Given the description of an element on the screen output the (x, y) to click on. 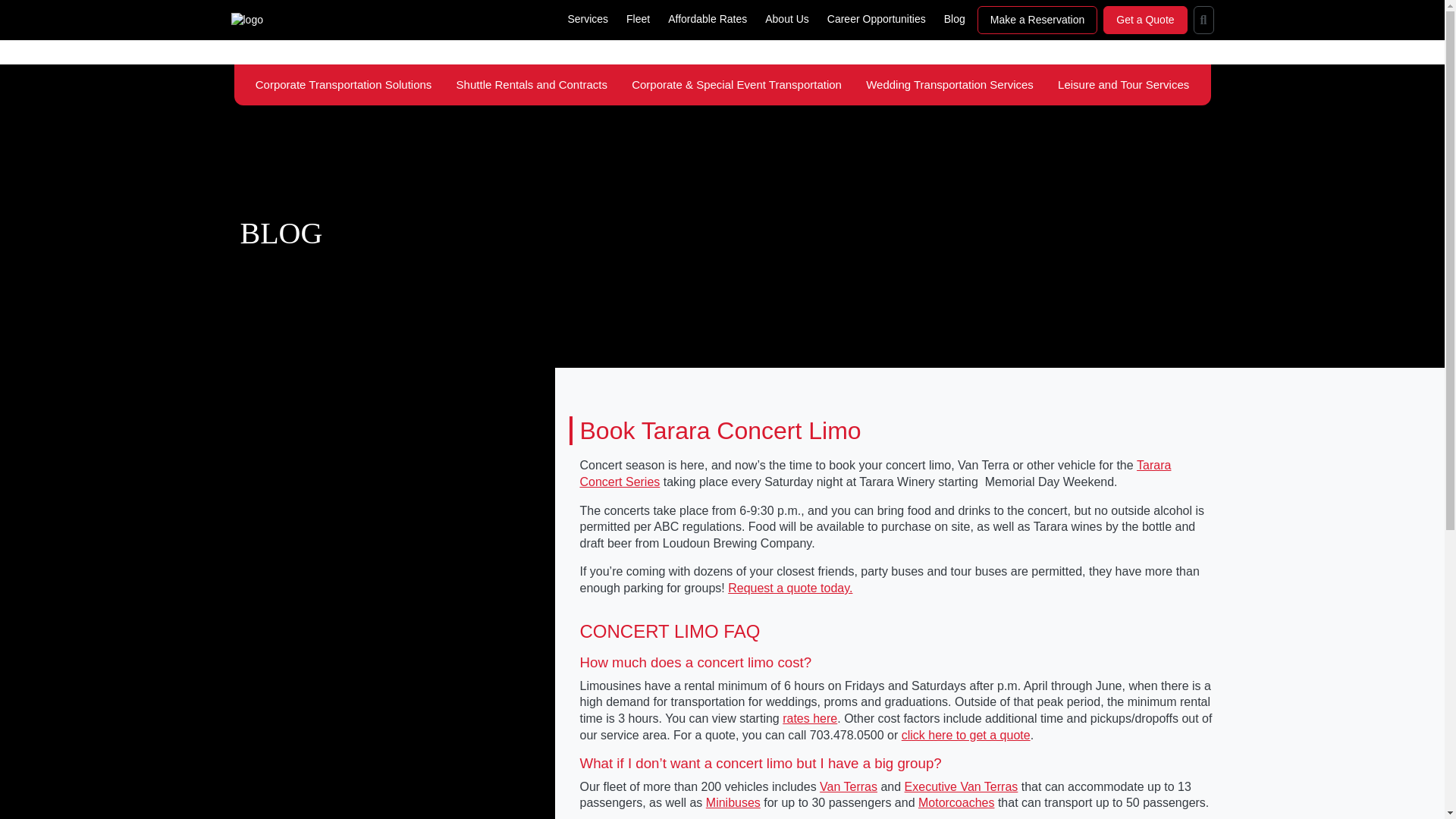
Blog (954, 18)
About Us (786, 18)
Affordable Rates (707, 18)
Career Opportunities (876, 18)
Fleet (638, 18)
Make a Reservation (1037, 19)
Services (587, 18)
Get a Quote (1144, 19)
